Given the description of an element on the screen output the (x, y) to click on. 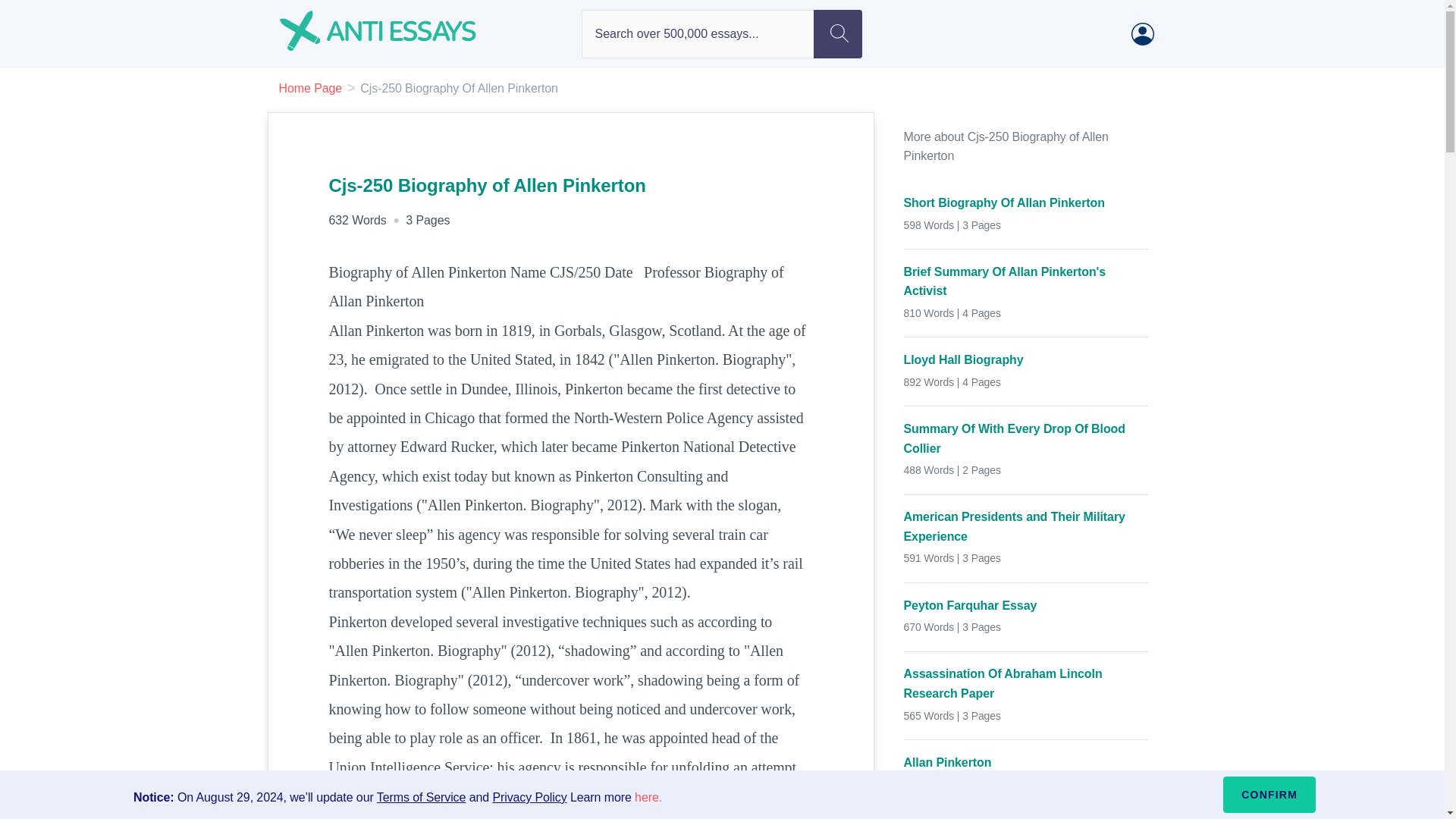
Short Biography Of Allan Pinkerton (1026, 202)
American Presidents and Their Military Experience (1026, 526)
Home Page (310, 88)
Peyton Farquhar Essay (1026, 605)
Allan Pinkerton (1026, 762)
Summary Of With Every Drop Of Blood Collier (1026, 438)
Lloyd Hall Biography (1026, 360)
Brief Summary Of Allan Pinkerton's Activist (1026, 281)
Assassination Of Abraham Lincoln Research Paper (1026, 683)
